Given the description of an element on the screen output the (x, y) to click on. 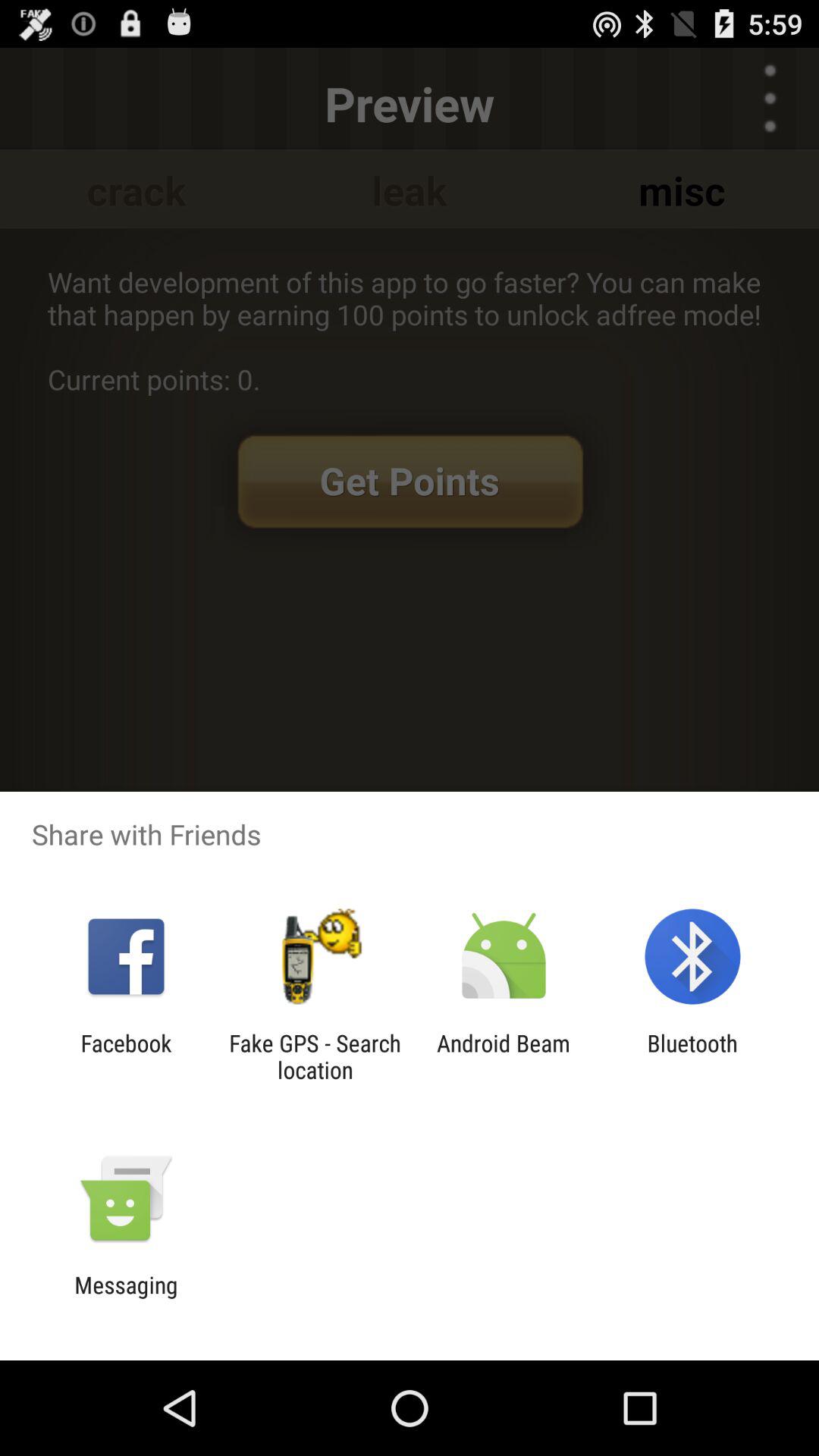
click item next to the android beam item (314, 1056)
